Given the description of an element on the screen output the (x, y) to click on. 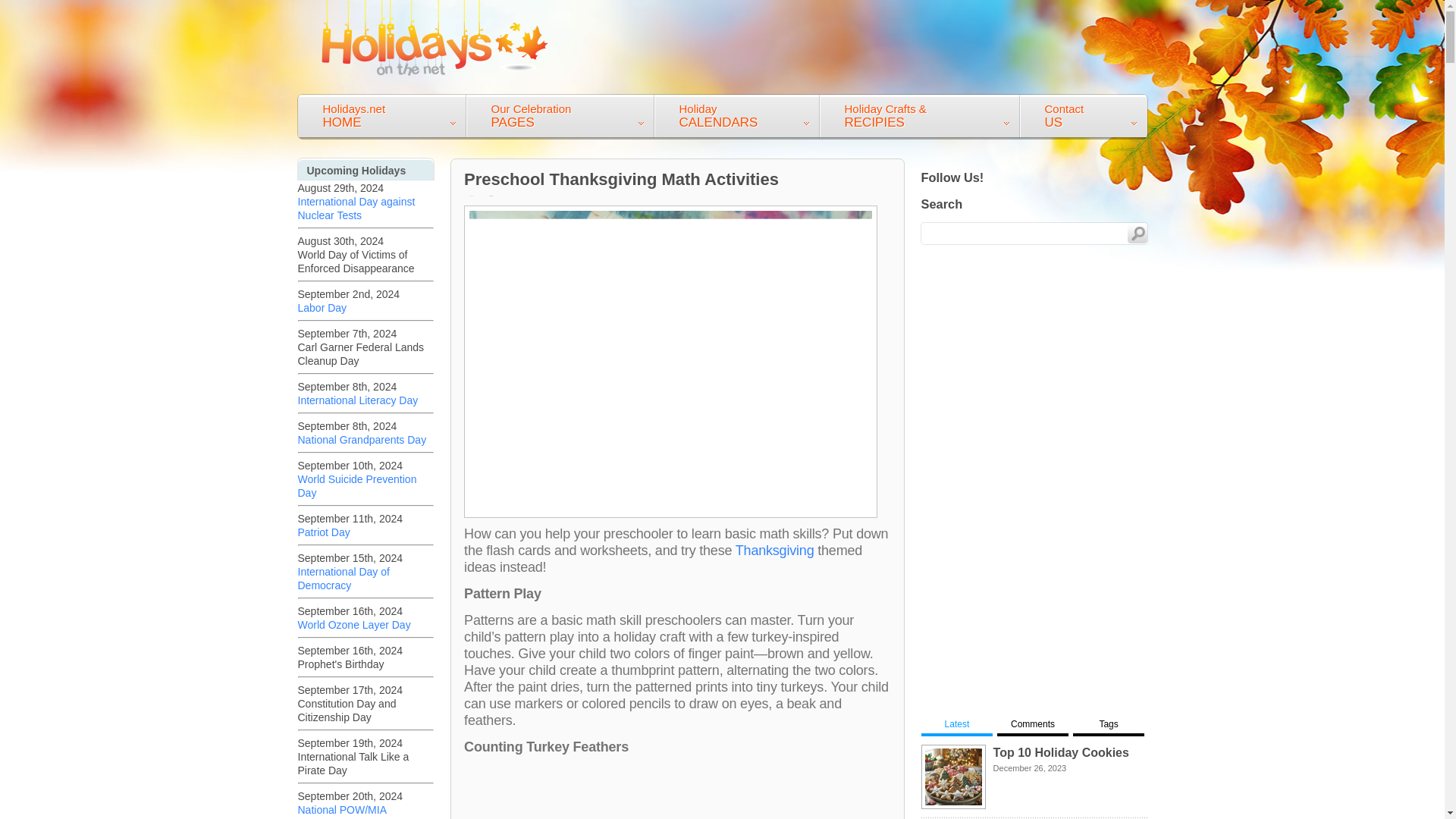
Thanksgiving (381, 116)
Holidays on the net (774, 549)
Search (735, 116)
Advertisement (434, 38)
